Given the description of an element on the screen output the (x, y) to click on. 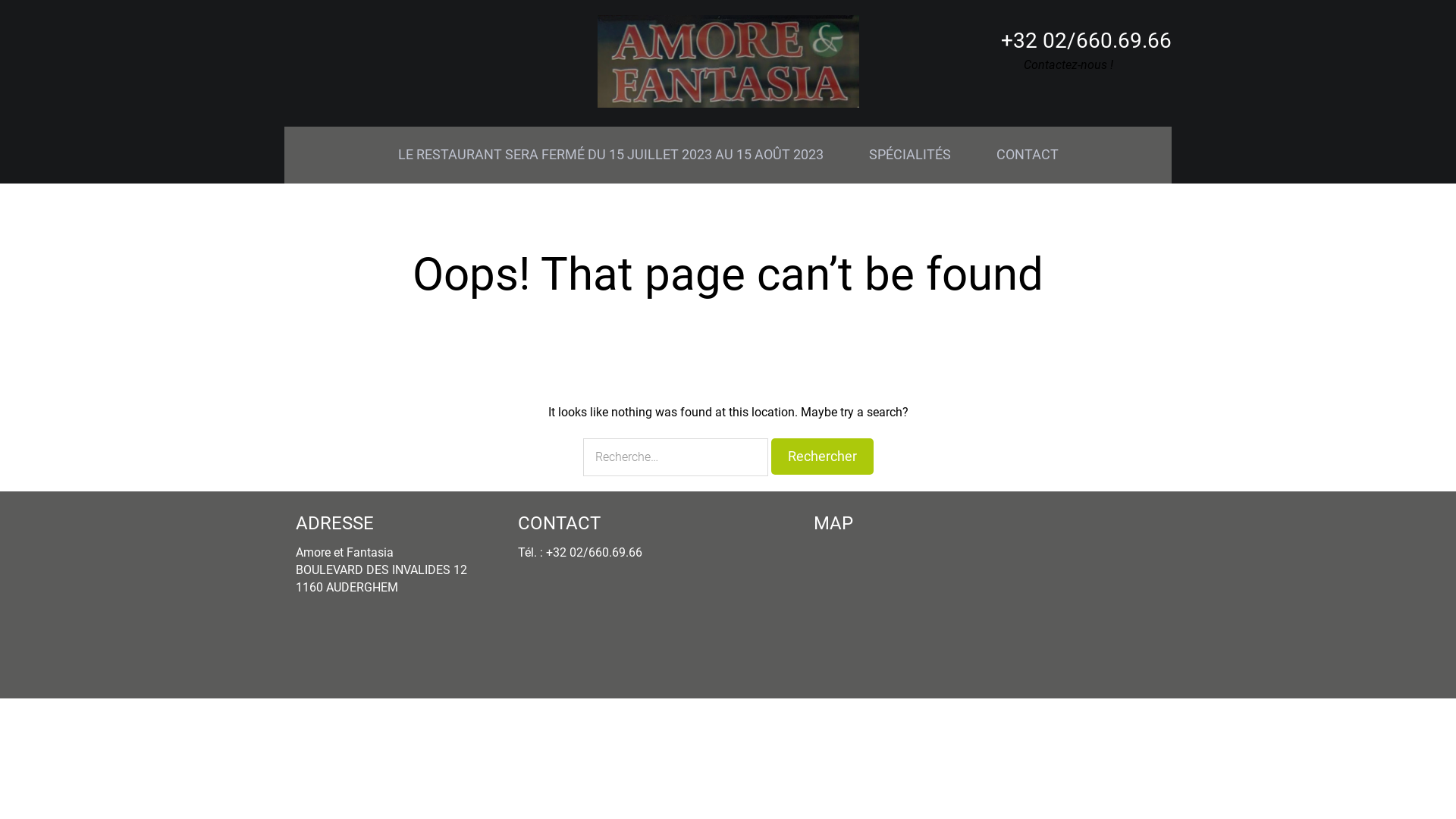
Rechercher Element type: text (821, 456)
+32 02/660.69.66 Element type: text (594, 552)
+32 02/660.69.66 Element type: text (1086, 40)
CONTACT Element type: text (1027, 154)
